Given the description of an element on the screen output the (x, y) to click on. 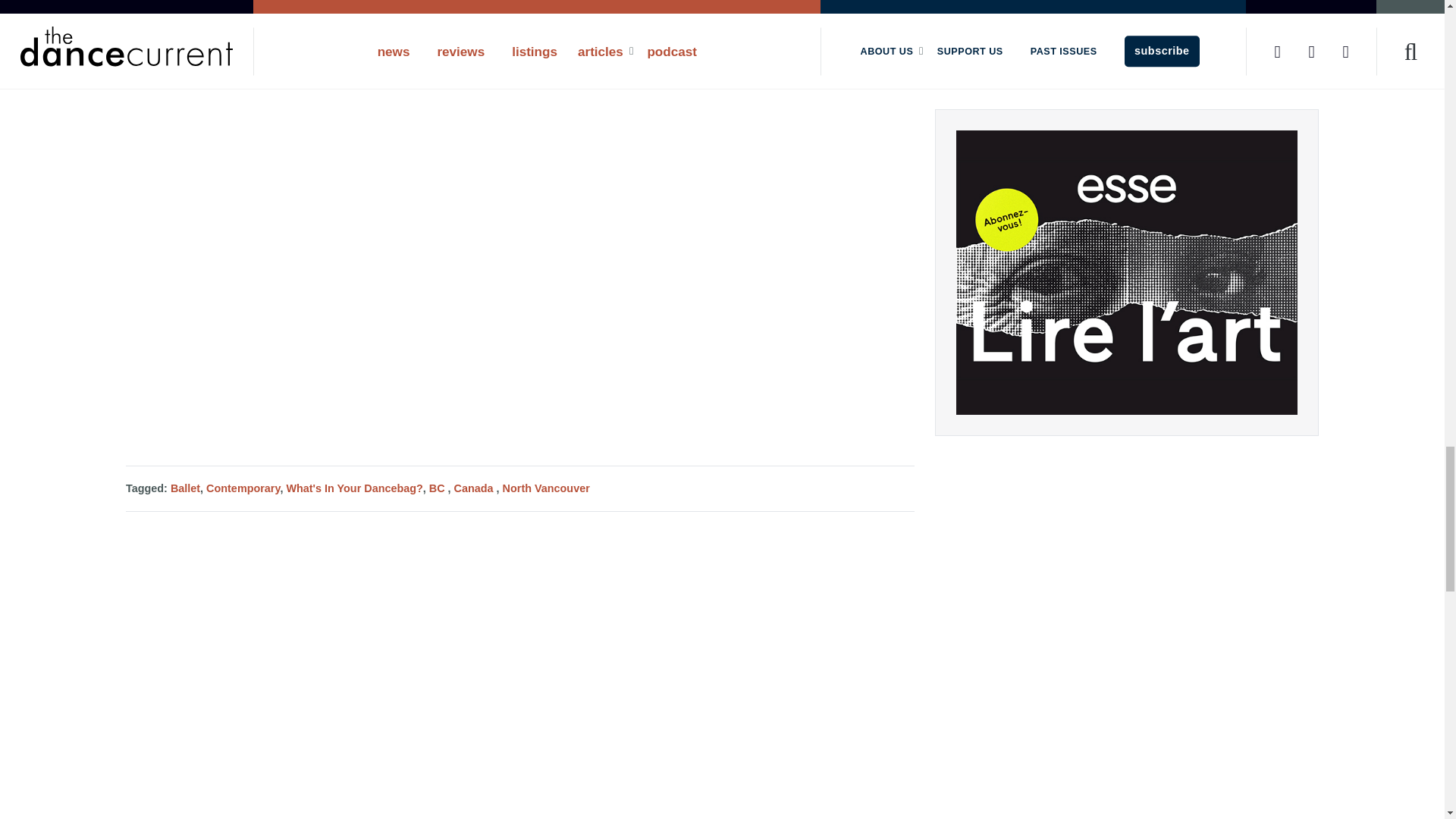
Ballet (185, 488)
What's In Your Dancebag? (353, 488)
Contemporary (242, 488)
North Vancouver (545, 488)
BC (437, 488)
Canada (473, 488)
